Given the description of an element on the screen output the (x, y) to click on. 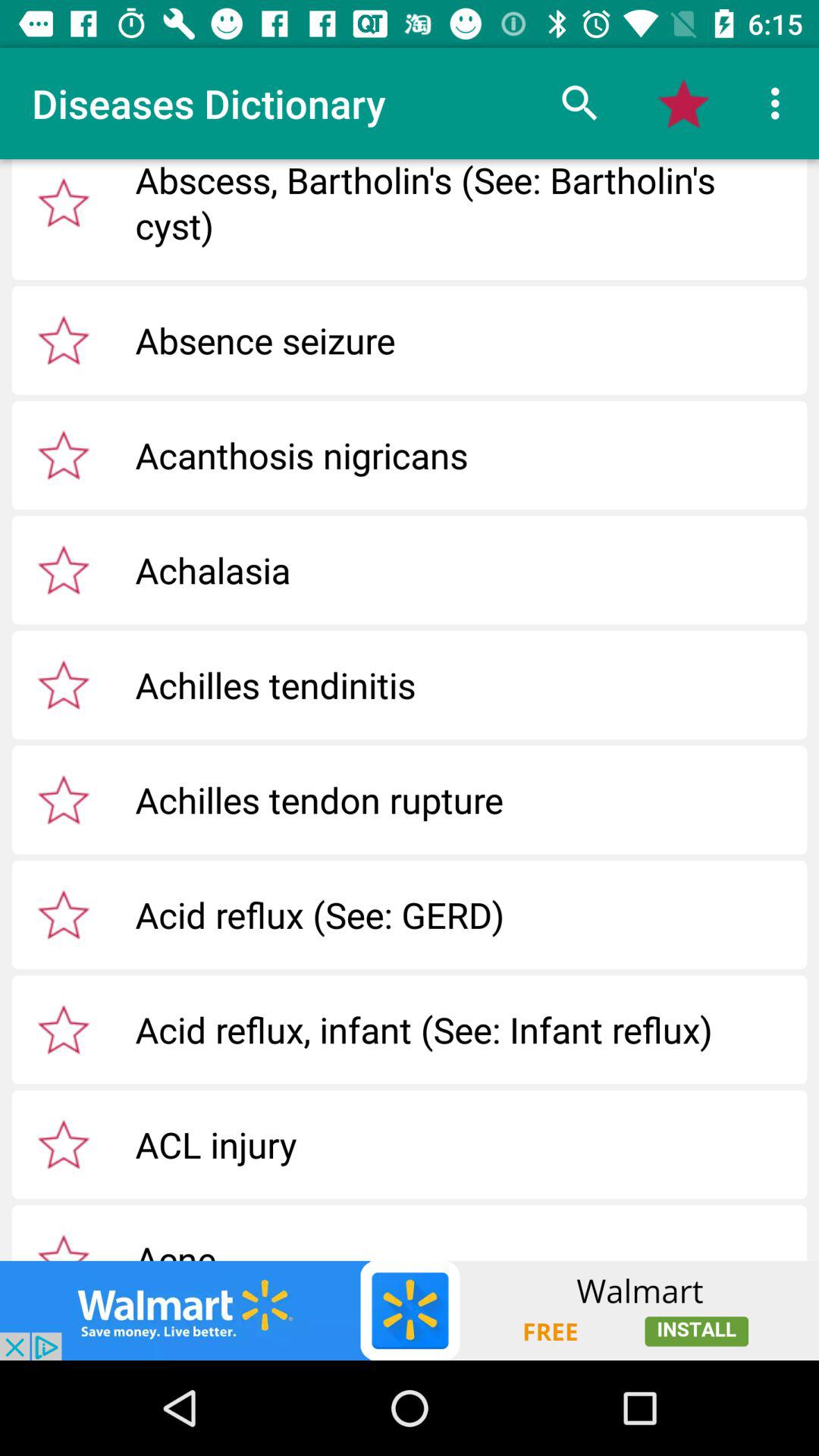
favorite dictionary entry (63, 684)
